Given the description of an element on the screen output the (x, y) to click on. 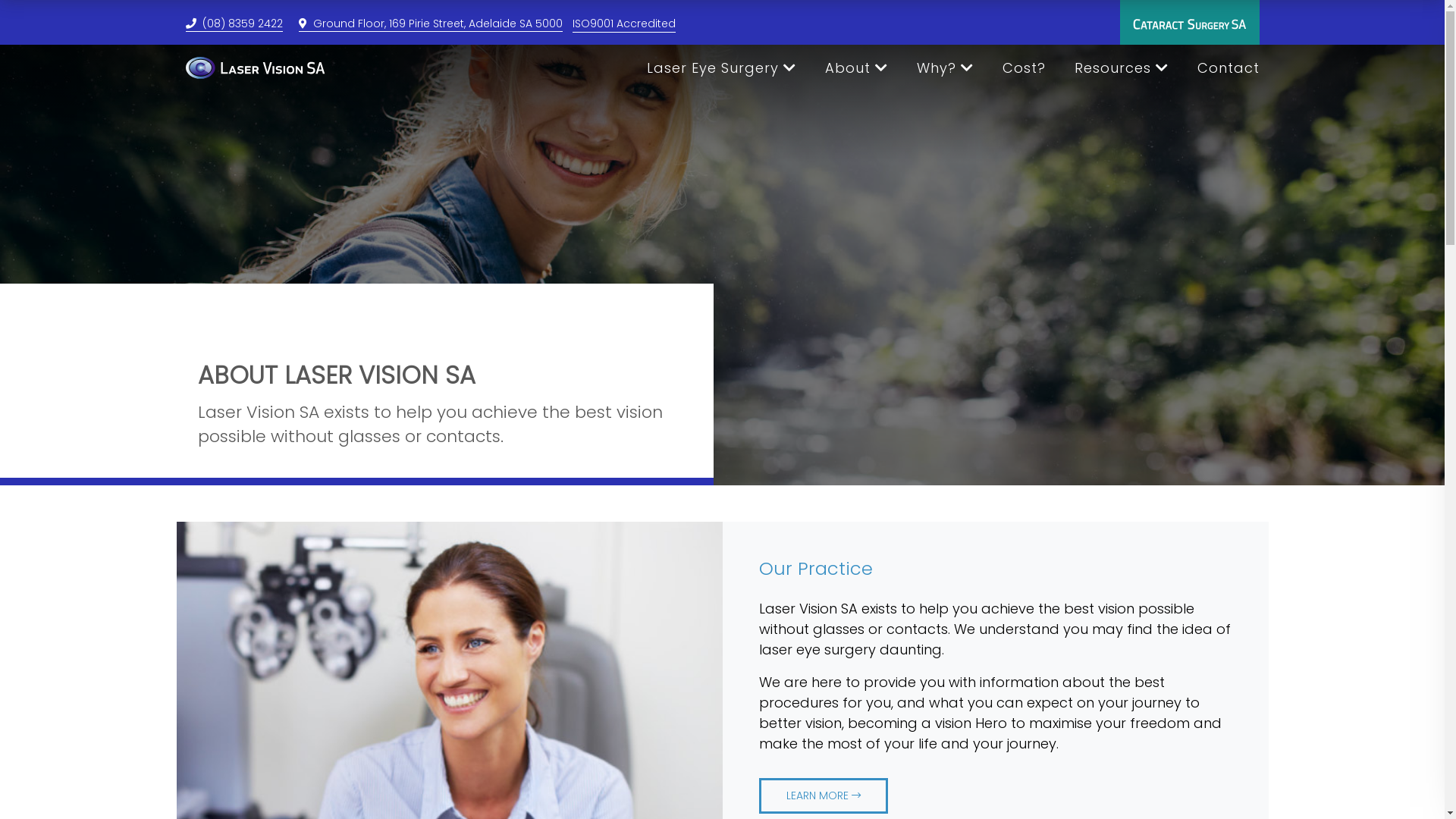
(08) 8359 2422 Element type: text (233, 23)
Our Practice Element type: text (815, 567)
ISO9001 Accredited Element type: text (622, 23)
Cost? Element type: text (1023, 67)
Ground Floor, 169 Pirie Street, Adelaide SA 5000 Element type: text (430, 23)
Laser Eye Surgery Element type: text (720, 67)
LEARN MORE Element type: text (822, 795)
Contact Element type: text (1227, 67)
About Element type: text (856, 67)
Resources Element type: text (1120, 67)
Why? Element type: text (944, 67)
